Given the description of an element on the screen output the (x, y) to click on. 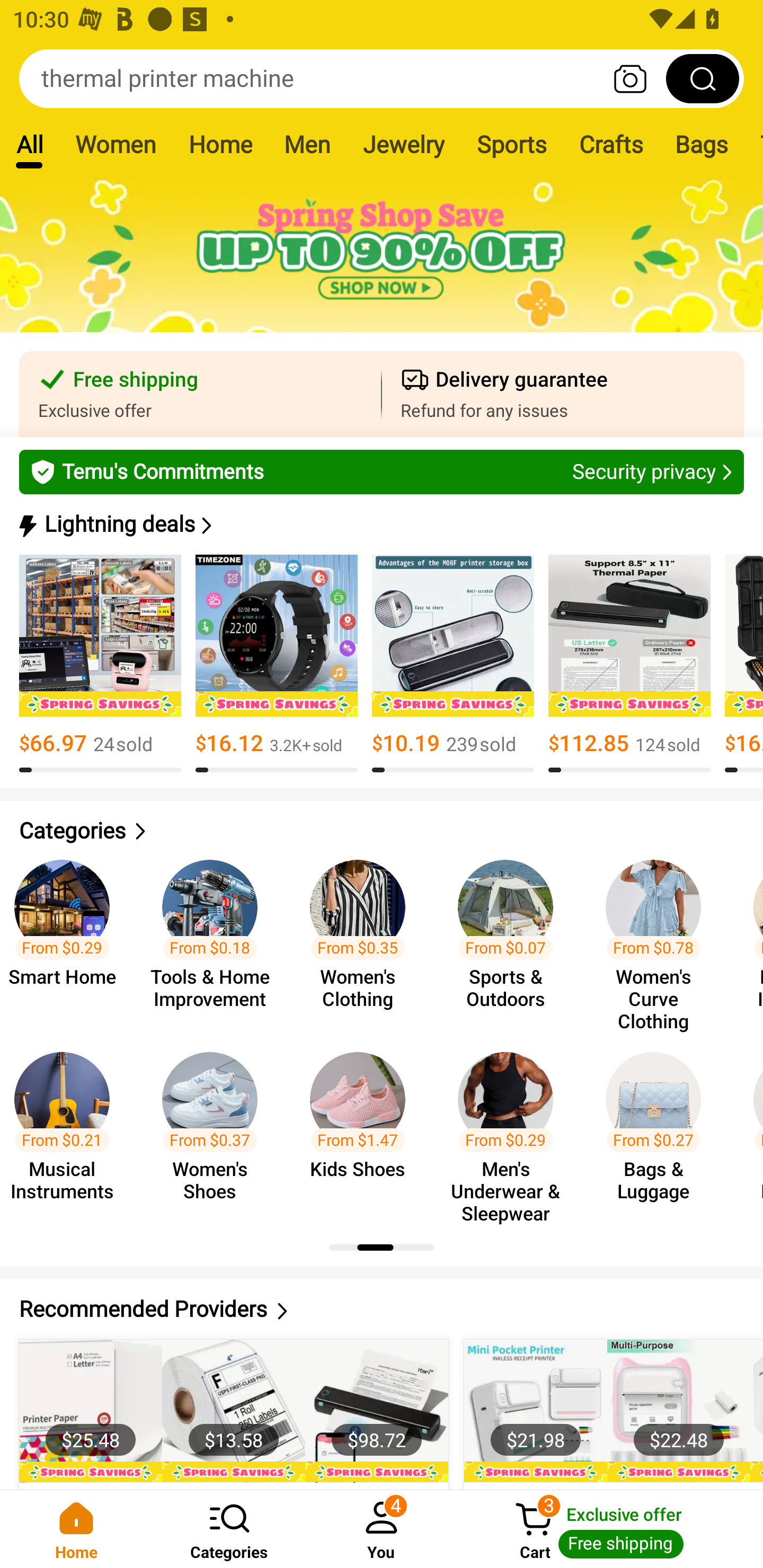
thermal printer machine (381, 78)
All (29, 144)
Women (115, 144)
Home (219, 144)
Men (306, 144)
Jewelry (403, 144)
Sports (511, 144)
Crafts (611, 144)
Bags (701, 144)
Free shipping Exclusive offer (200, 394)
Delivery guarantee Refund for any issues (562, 394)
Temu's Commitments (381, 471)
Lightning deals (379, 524)
$66.97 24￼sold 8.0 (100, 664)
$16.12 3.2K+￼sold 8.0 (276, 664)
$10.19 239￼sold 8.0 (453, 664)
$112.85 124￼sold 8.0 (629, 664)
Categories (381, 830)
From $0.29 Smart Home (70, 936)
From $0.18 Tools & Home Improvement (215, 936)
From $0.35 Women's Clothing (363, 936)
From $0.07 Sports & Outdoors (511, 936)
From $0.78 Women's Curve Clothing (658, 936)
From $0.21 Musical Instruments (70, 1128)
From $0.37 Women's Shoes (215, 1128)
From $1.47 Kids Shoes (363, 1128)
From $0.29 Men's Underwear & Sleepwear (511, 1128)
From $0.27 Bags & Luggage (658, 1128)
Recommended Providers (381, 1309)
Home (76, 1528)
Categories (228, 1528)
You 4 You (381, 1528)
Cart 3 Cart Exclusive offer (610, 1528)
